Given the description of an element on the screen output the (x, y) to click on. 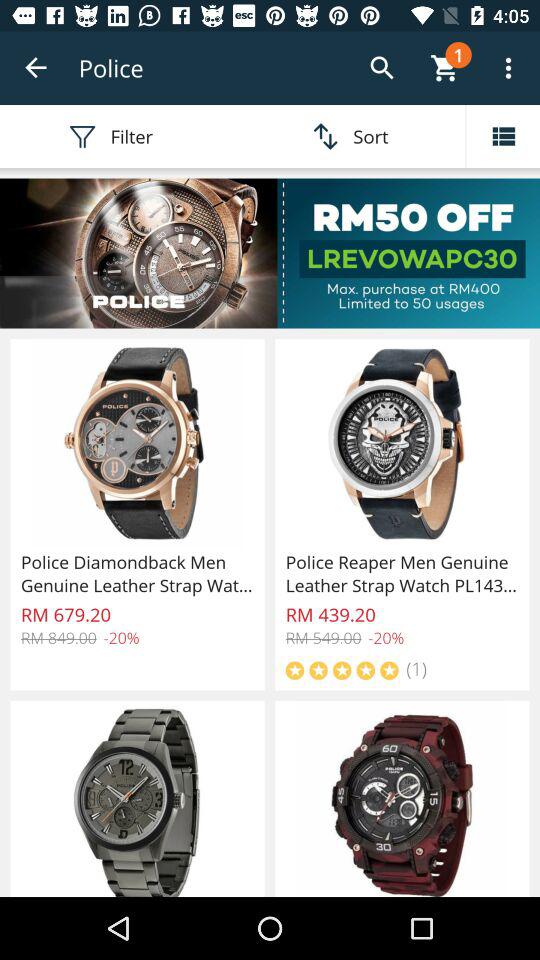
press the icon next to police app (36, 68)
